Given the description of an element on the screen output the (x, y) to click on. 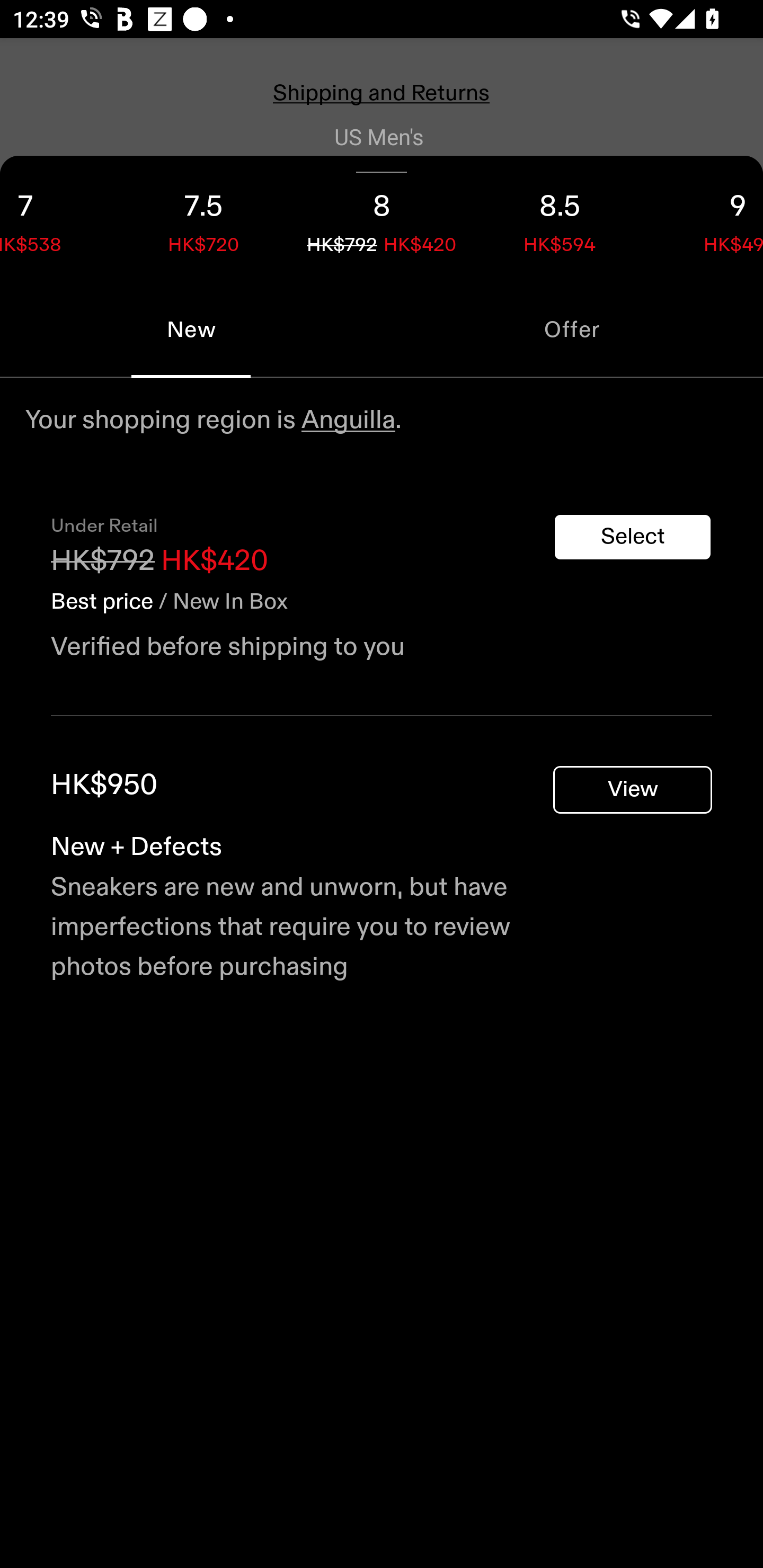
Shipping and Returns (381, 93)
7 HK$538 (57, 218)
7.5 HK$720 (203, 218)
8 HK$792 HK$420 (381, 218)
8.5 HK$594 (559, 218)
9 HK$491 (705, 218)
Offer (572, 329)
Select (632, 536)
View (632, 789)
